Given the description of an element on the screen output the (x, y) to click on. 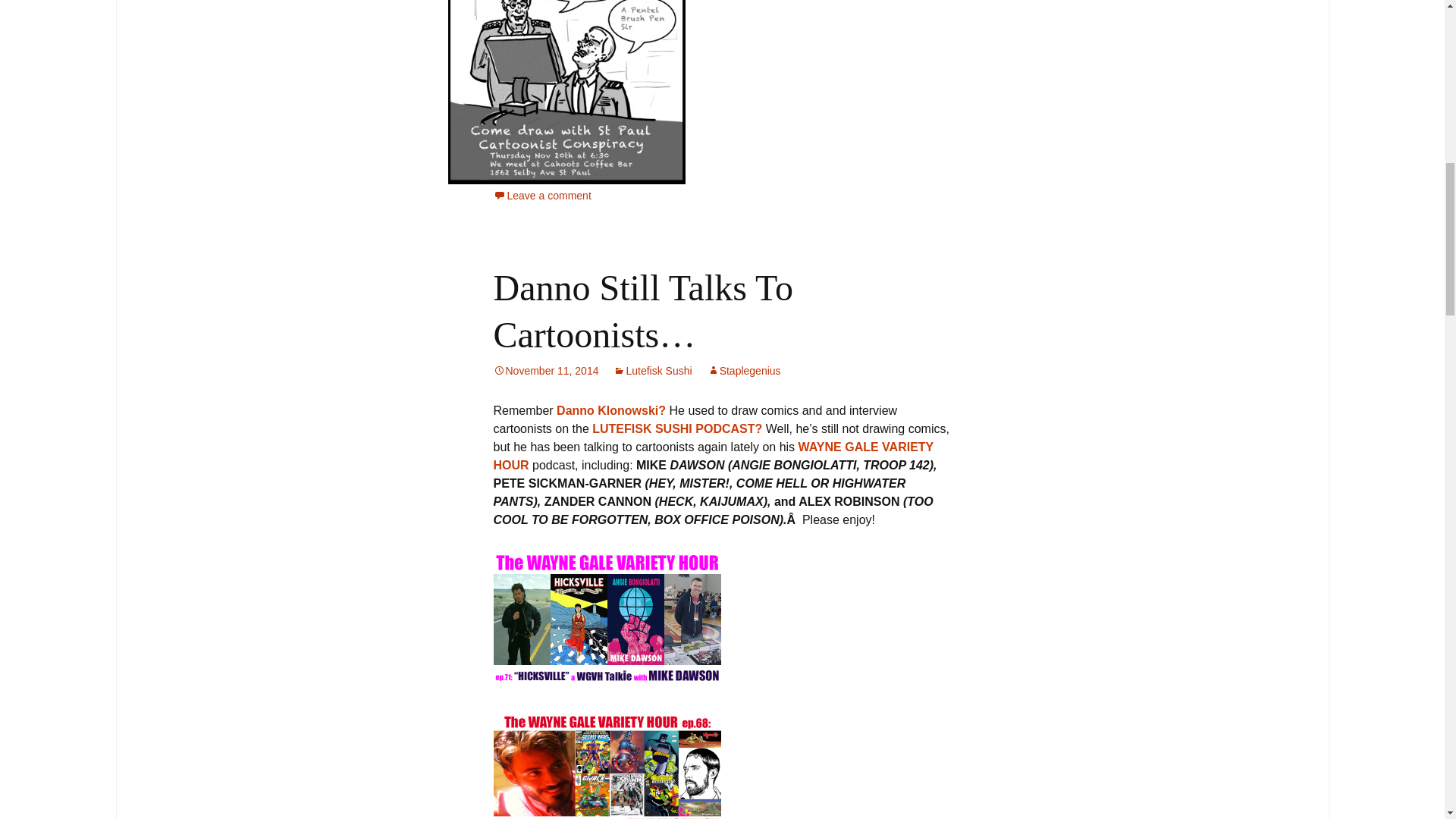
WAYNE GALE VARIETY HOUR (713, 455)
Staplegenius (743, 370)
Lutefisk Sushi (651, 370)
Danno Klonowski? (612, 410)
LUTEFISK SUSHI PODCAST? (678, 428)
November 11, 2014 (545, 370)
Leave a comment (542, 195)
View all posts by Staplegenius (743, 370)
